Given the description of an element on the screen output the (x, y) to click on. 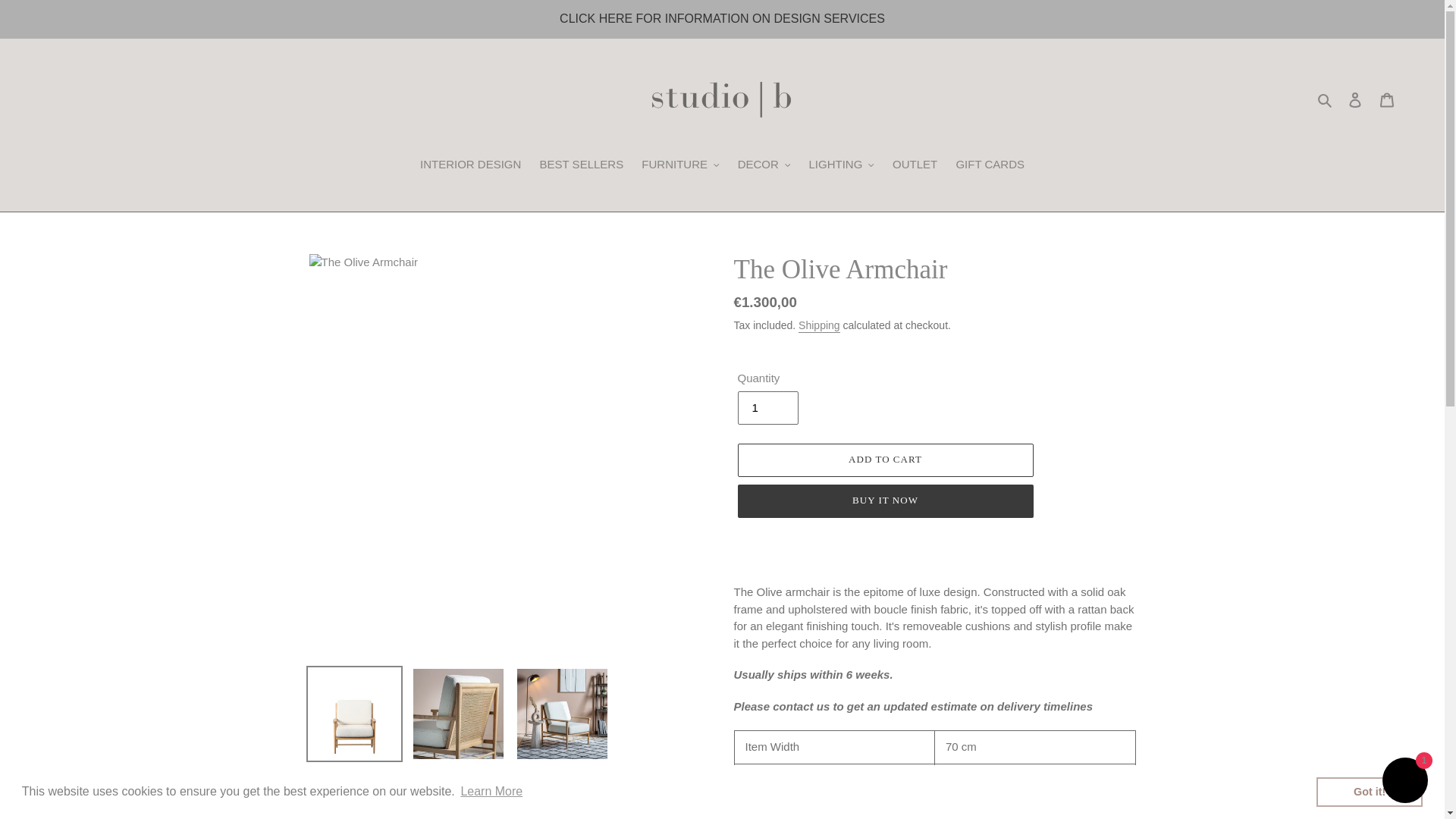
Shopify online store chat (1404, 781)
Got it! (1369, 791)
CLICK HERE FOR INFORMATION ON DESIGN SERVICES (721, 18)
Search (1326, 99)
Learn More (491, 791)
Cart (1387, 99)
Log in (1355, 99)
1 (766, 408)
